Given the description of an element on the screen output the (x, y) to click on. 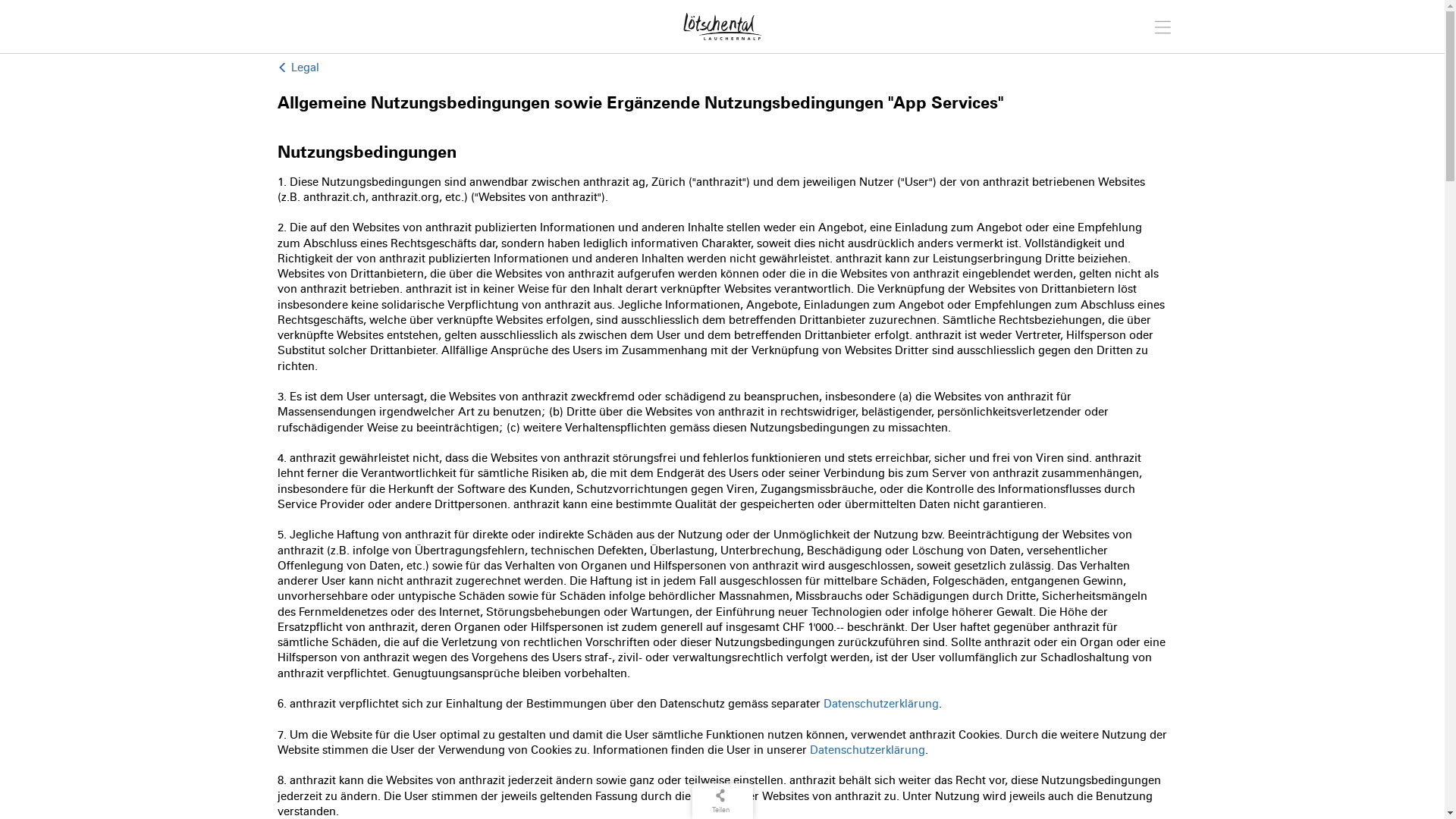
Teilen Element type: text (719, 800)
Legal Element type: text (298, 67)
Navigation anzeigen Element type: hover (1162, 24)
